Given the description of an element on the screen output the (x, y) to click on. 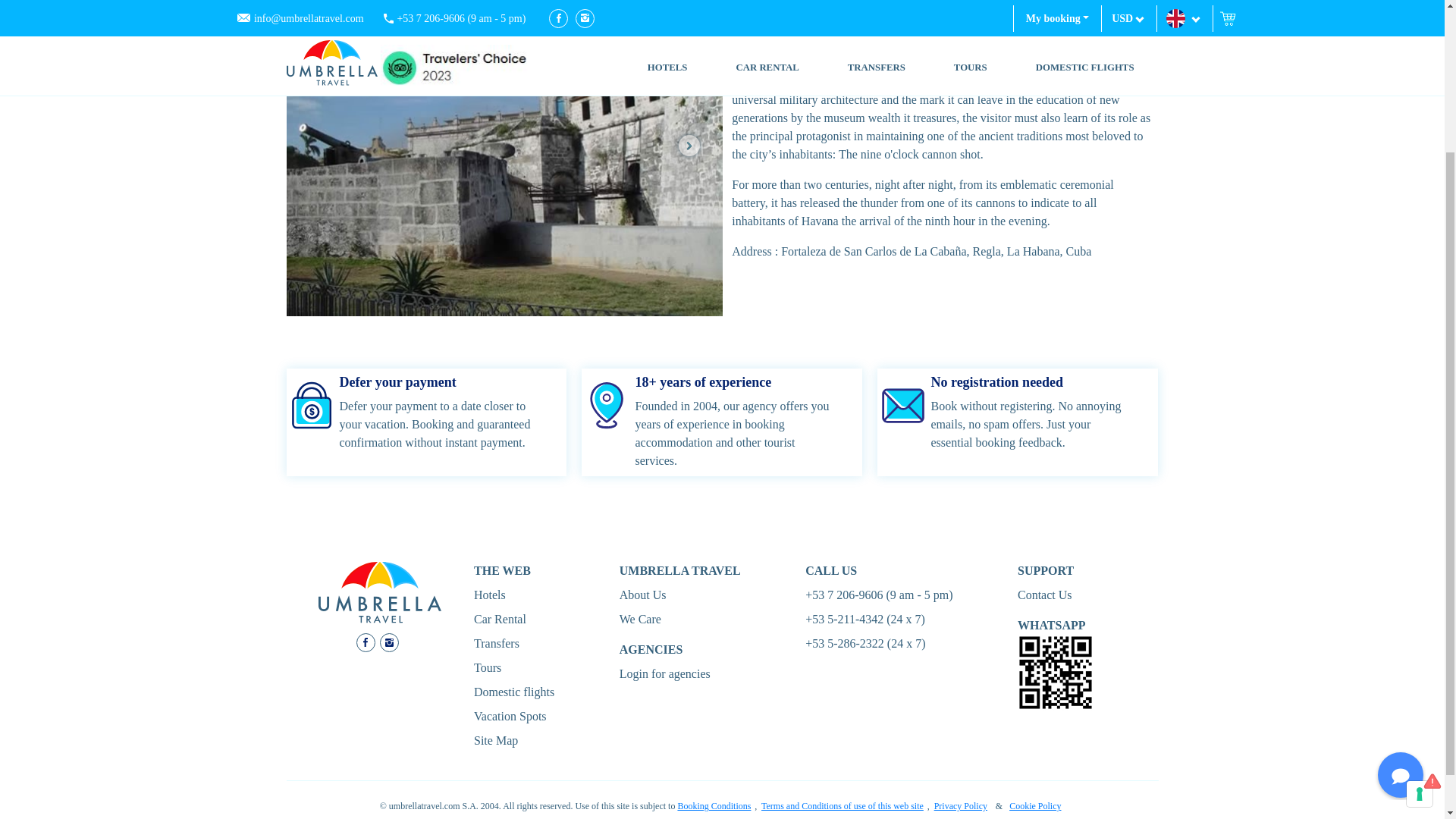
Terms and Conditions of use of this web site (842, 805)
Domestic flights (514, 691)
Webchat Widget (1390, 580)
Transfers (496, 643)
Cookie Policy (1035, 805)
Vacation Spots (510, 716)
Car Rental (499, 618)
Site Map (496, 739)
Hotels (489, 594)
Privacy Policy (960, 805)
About Us (643, 594)
Tours (487, 667)
